Given the description of an element on the screen output the (x, y) to click on. 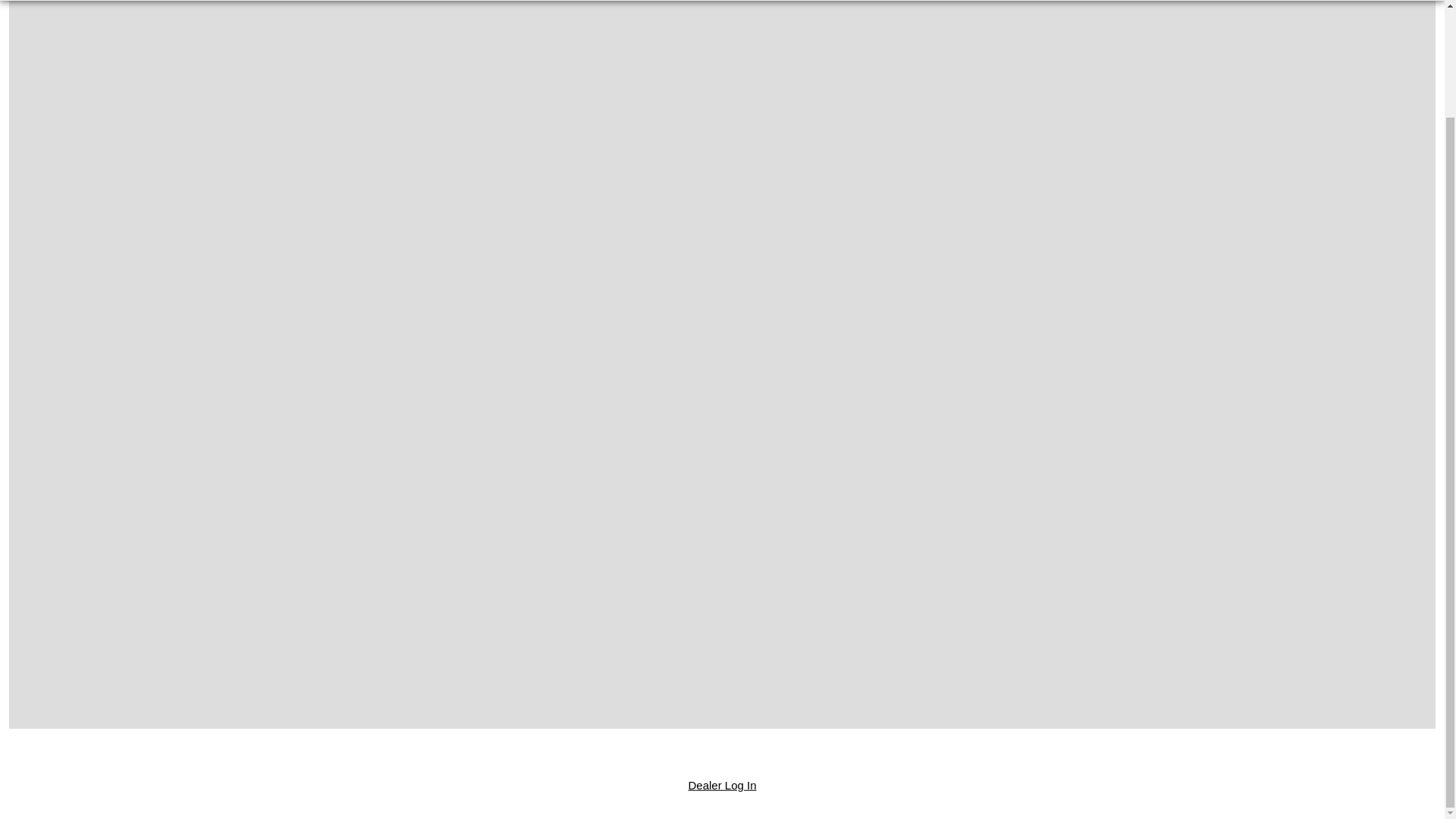
HOME (41, 0)
